Given the description of an element on the screen output the (x, y) to click on. 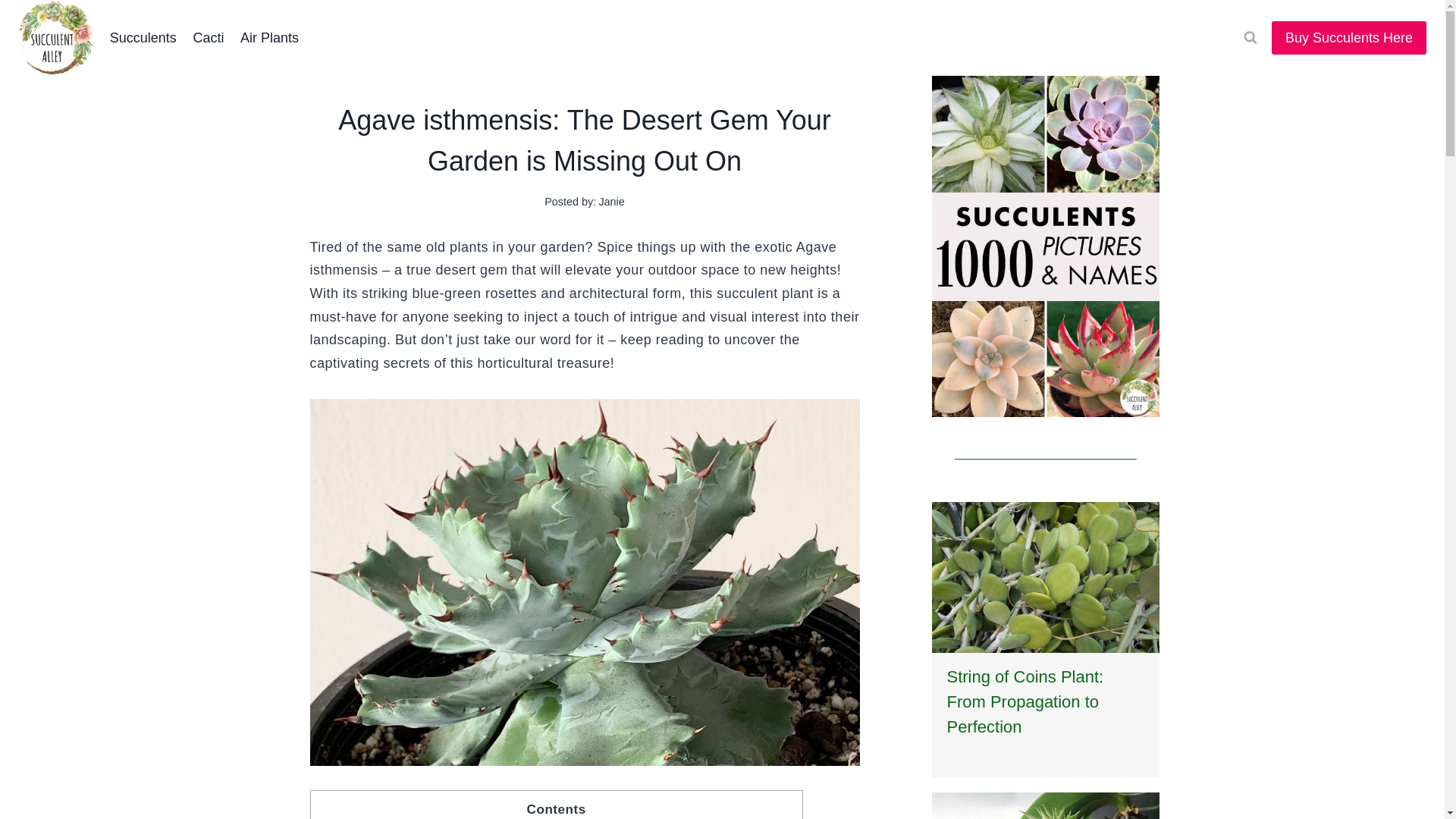
Succulents (142, 37)
Air Plants (269, 37)
Cacti (208, 37)
String of Coins Plant: From Propagation to Perfection (1024, 701)
Buy Succulents Here (1348, 37)
